Given the description of an element on the screen output the (x, y) to click on. 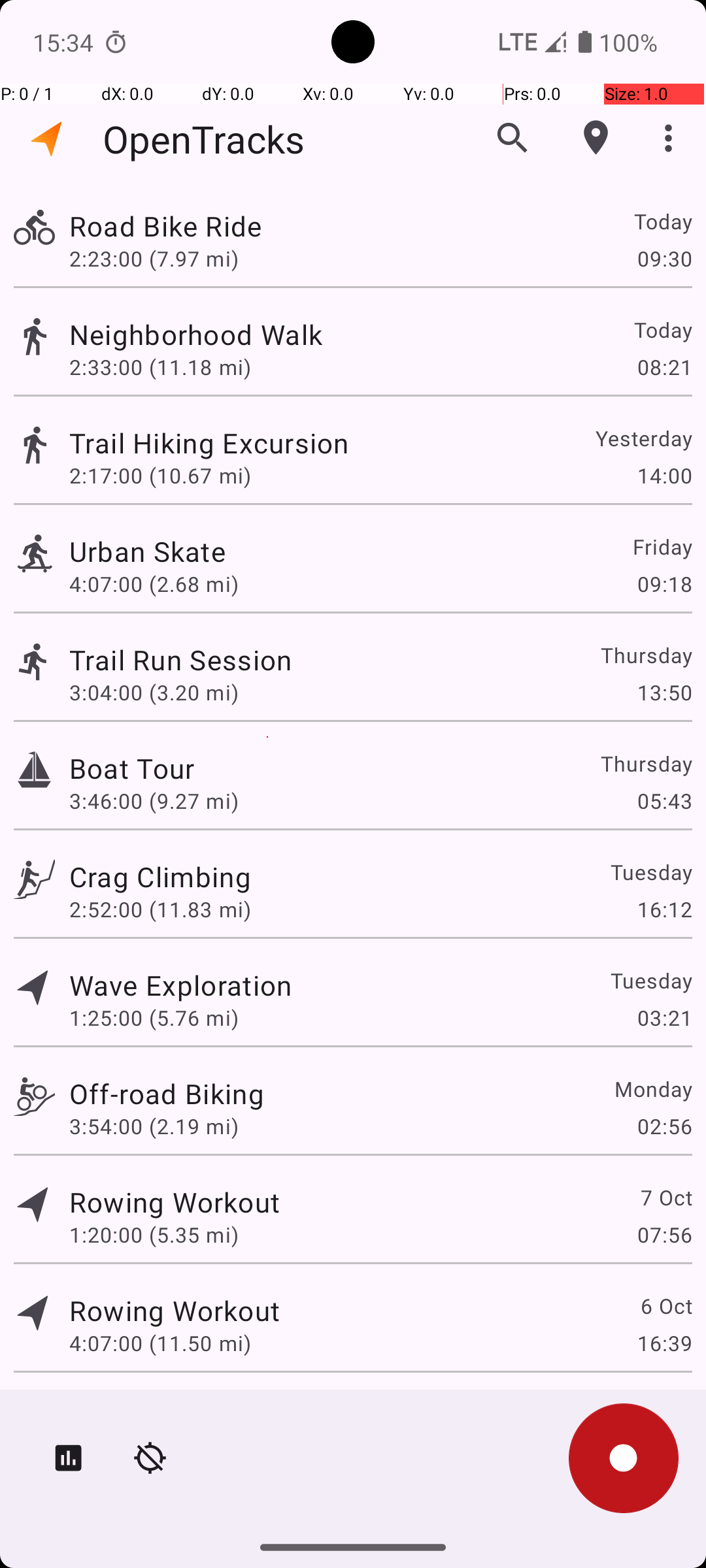
Road Bike Ride Element type: android.widget.TextView (165, 225)
2:23:00 (7.97 mi) Element type: android.widget.TextView (153, 258)
09:30 Element type: android.widget.TextView (664, 258)
Neighborhood Walk Element type: android.widget.TextView (195, 333)
2:33:00 (11.18 mi) Element type: android.widget.TextView (159, 366)
08:21 Element type: android.widget.TextView (664, 366)
Trail Hiking Excursion Element type: android.widget.TextView (208, 442)
2:17:00 (10.67 mi) Element type: android.widget.TextView (159, 475)
Urban Skate Element type: android.widget.TextView (147, 550)
4:07:00 (2.68 mi) Element type: android.widget.TextView (153, 583)
09:18 Element type: android.widget.TextView (664, 583)
Trail Run Session Element type: android.widget.TextView (180, 659)
3:04:00 (3.20 mi) Element type: android.widget.TextView (153, 692)
13:50 Element type: android.widget.TextView (664, 692)
Boat Tour Element type: android.widget.TextView (131, 767)
3:46:00 (9.27 mi) Element type: android.widget.TextView (153, 800)
05:43 Element type: android.widget.TextView (664, 800)
Crag Climbing Element type: android.widget.TextView (159, 876)
2:52:00 (11.83 mi) Element type: android.widget.TextView (159, 909)
16:12 Element type: android.widget.TextView (664, 909)
Wave Exploration Element type: android.widget.TextView (180, 984)
1:25:00 (5.76 mi) Element type: android.widget.TextView (153, 1017)
03:21 Element type: android.widget.TextView (664, 1017)
Off-road Biking Element type: android.widget.TextView (166, 1092)
3:54:00 (2.19 mi) Element type: android.widget.TextView (153, 1125)
02:56 Element type: android.widget.TextView (664, 1125)
Rowing Workout Element type: android.widget.TextView (174, 1201)
1:20:00 (5.35 mi) Element type: android.widget.TextView (153, 1234)
07:56 Element type: android.widget.TextView (664, 1234)
6 Oct Element type: android.widget.TextView (665, 1305)
4:07:00 (11.50 mi) Element type: android.widget.TextView (159, 1342)
16:39 Element type: android.widget.TextView (664, 1342)
Snowboard Trip Element type: android.widget.TextView (170, 1408)
